Given the description of an element on the screen output the (x, y) to click on. 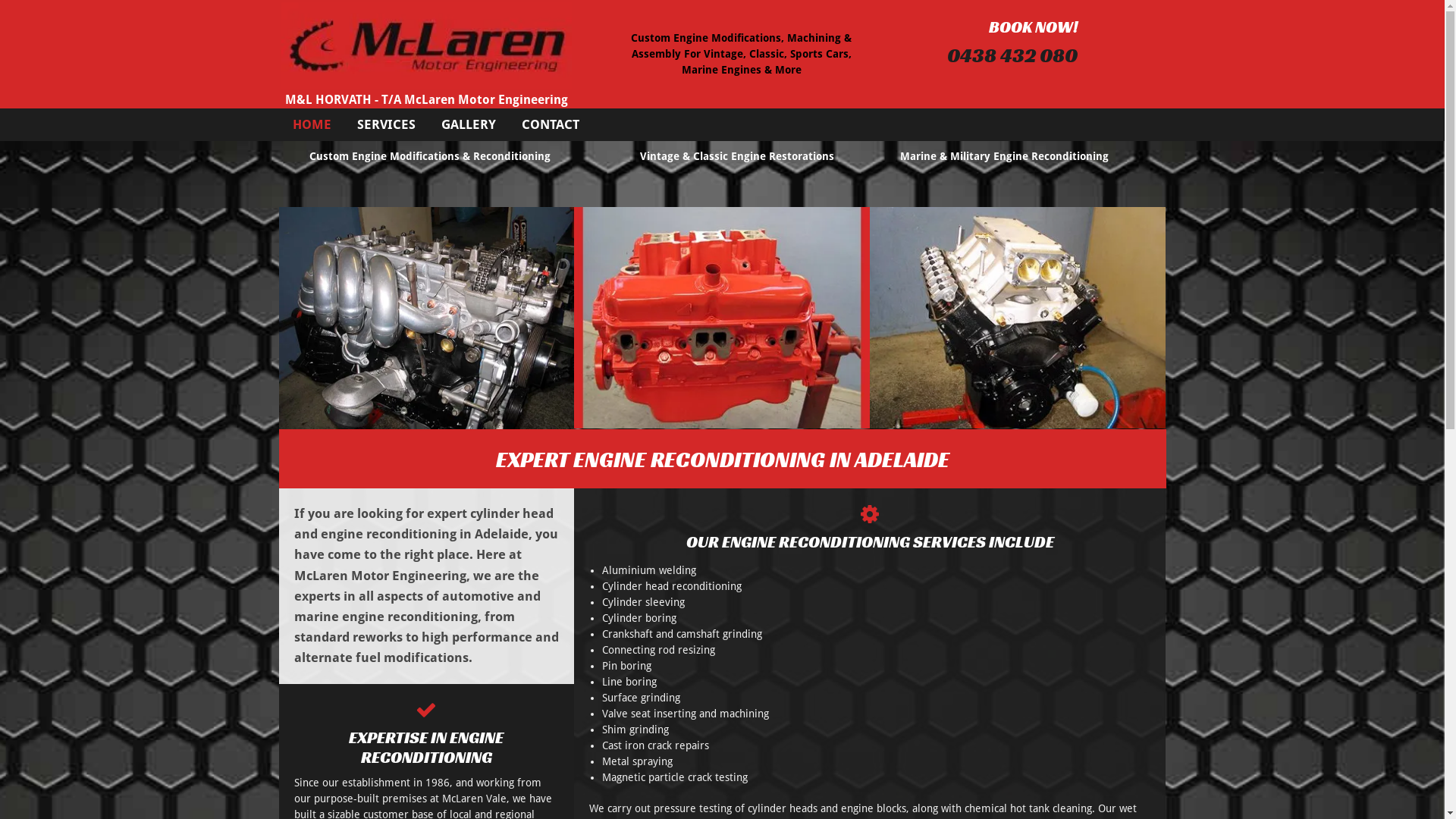
meclaren motor engineering logo Element type: hover (425, 45)
Custom Engine Modifications & Reconditioning Element type: text (429, 156)
GALLERY Element type: text (468, 124)
0438 432 080 Element type: text (1012, 54)
HOME Element type: text (311, 124)
CONTACT Element type: text (550, 124)
Marine & Military Engine Reconditioning Element type: text (1004, 156)
SERVICES Element type: text (385, 124)
Vintage & Classic Engine Restorations Element type: text (737, 156)
